Given the description of an element on the screen output the (x, y) to click on. 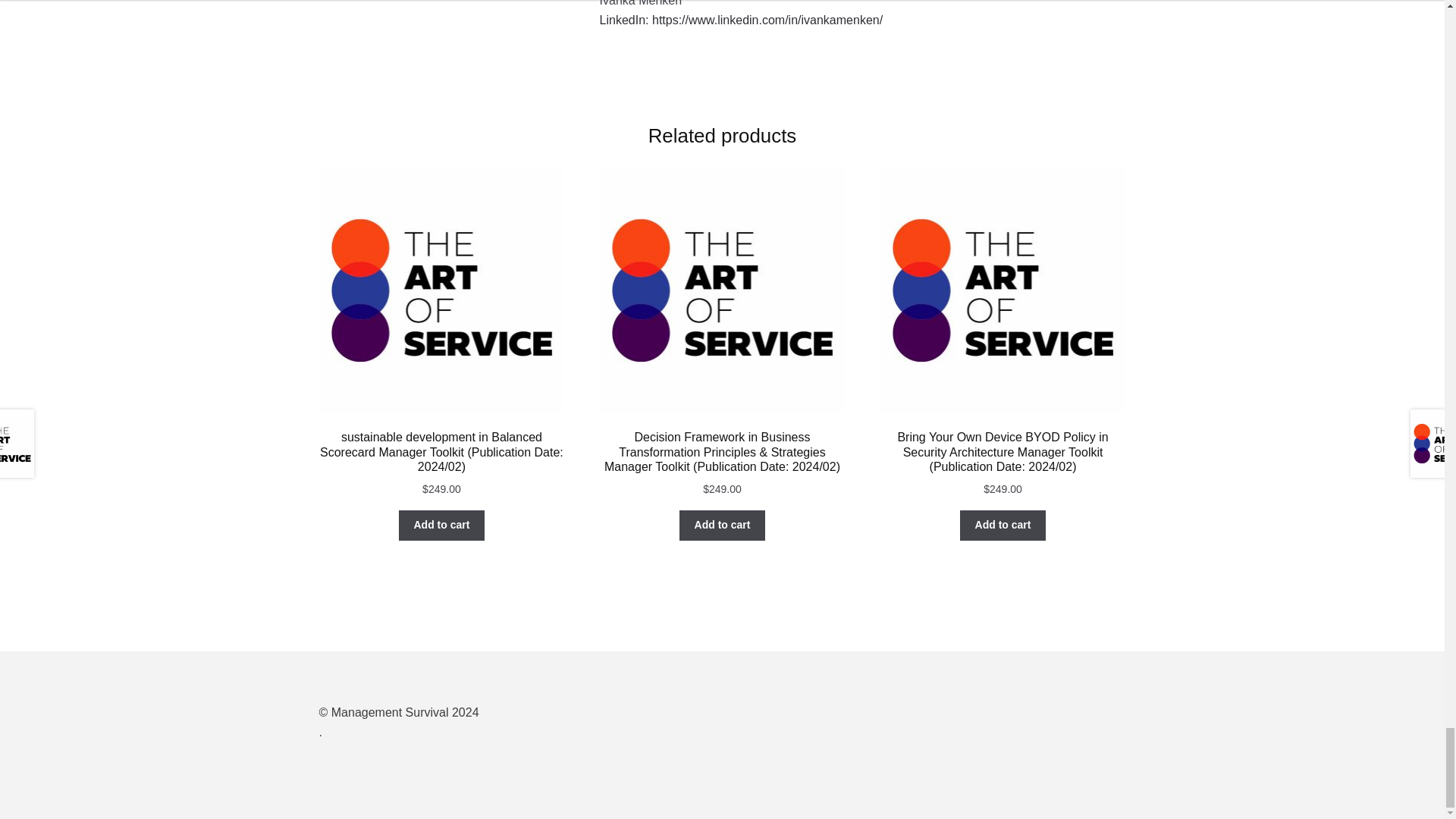
Add to cart (441, 525)
Add to cart (722, 525)
Add to cart (1002, 525)
